Given the description of an element on the screen output the (x, y) to click on. 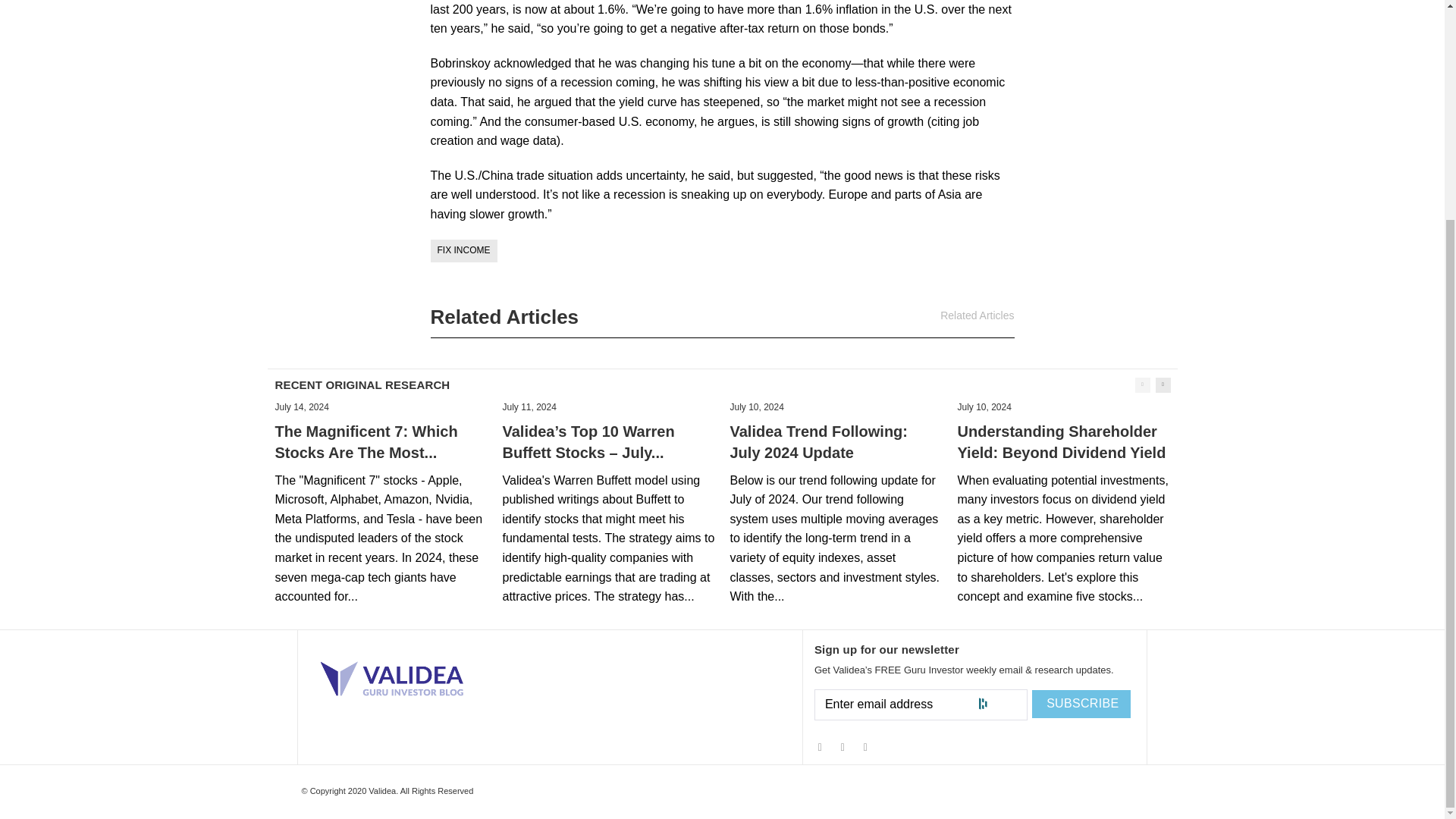
July 10, 2024 (983, 407)
July 11, 2024 (529, 407)
Understanding Shareholder Yield: Beyond Dividend Yield (1061, 442)
July 14, 2024 (302, 407)
SUBSCRIBE (1081, 704)
July 10, 2024 (756, 407)
2024-07-10T09:04:47-04:00 (983, 407)
2024-07-11T09:09:15-04:00 (529, 407)
2024-07-10T09:19:35-04:00 (756, 407)
SUBSCRIBE (1081, 704)
The Magnificent 7: Which Stocks Are The Most... (366, 442)
FIX INCOME (463, 250)
2024-07-14T18:24:16-04:00 (302, 407)
Validea Trend Following: July 2024 Update (818, 442)
